Given the description of an element on the screen output the (x, y) to click on. 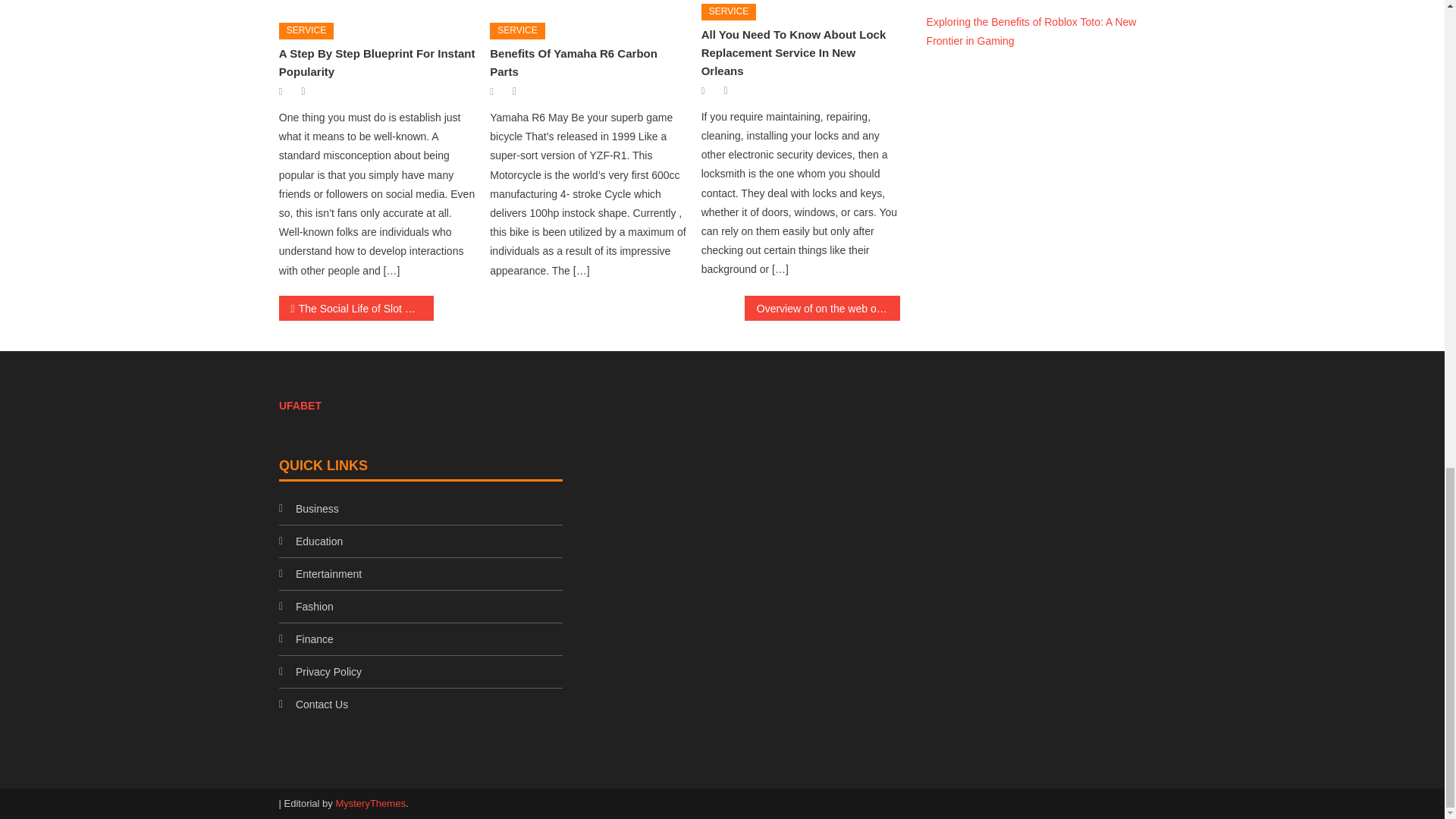
A Step By Step Blueprint For Instant Popularity (378, 5)
SERVICE (516, 30)
SERVICE (306, 30)
A Step By Step Blueprint For Instant Popularity (377, 61)
Benefits Of Yamaha R6 Carbon Parts (573, 61)
Benefits Of Yamaha R6 Carbon Parts (588, 5)
